Given the description of an element on the screen output the (x, y) to click on. 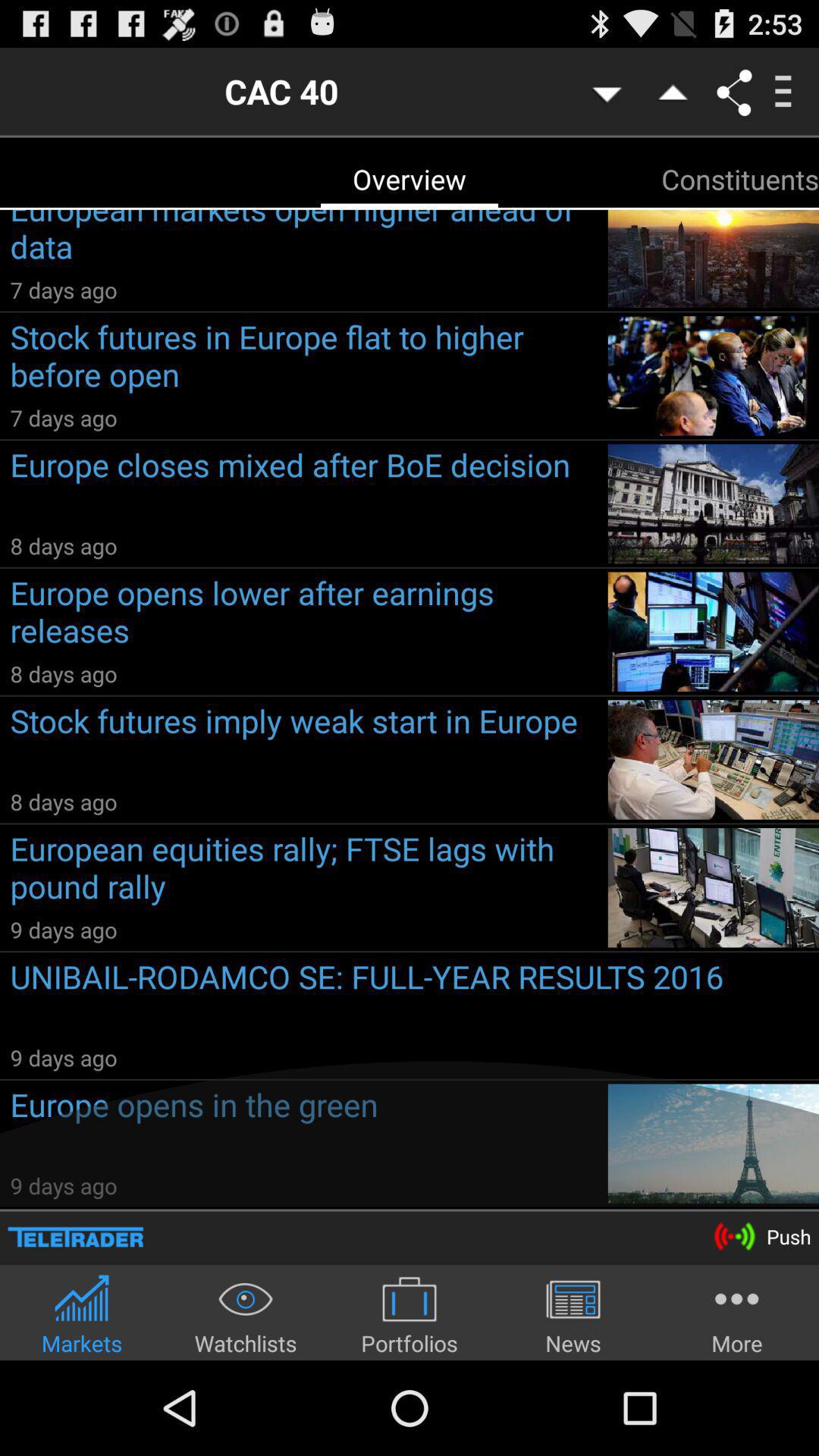
scroll to the unibail rodamco se (414, 998)
